Given the description of an element on the screen output the (x, y) to click on. 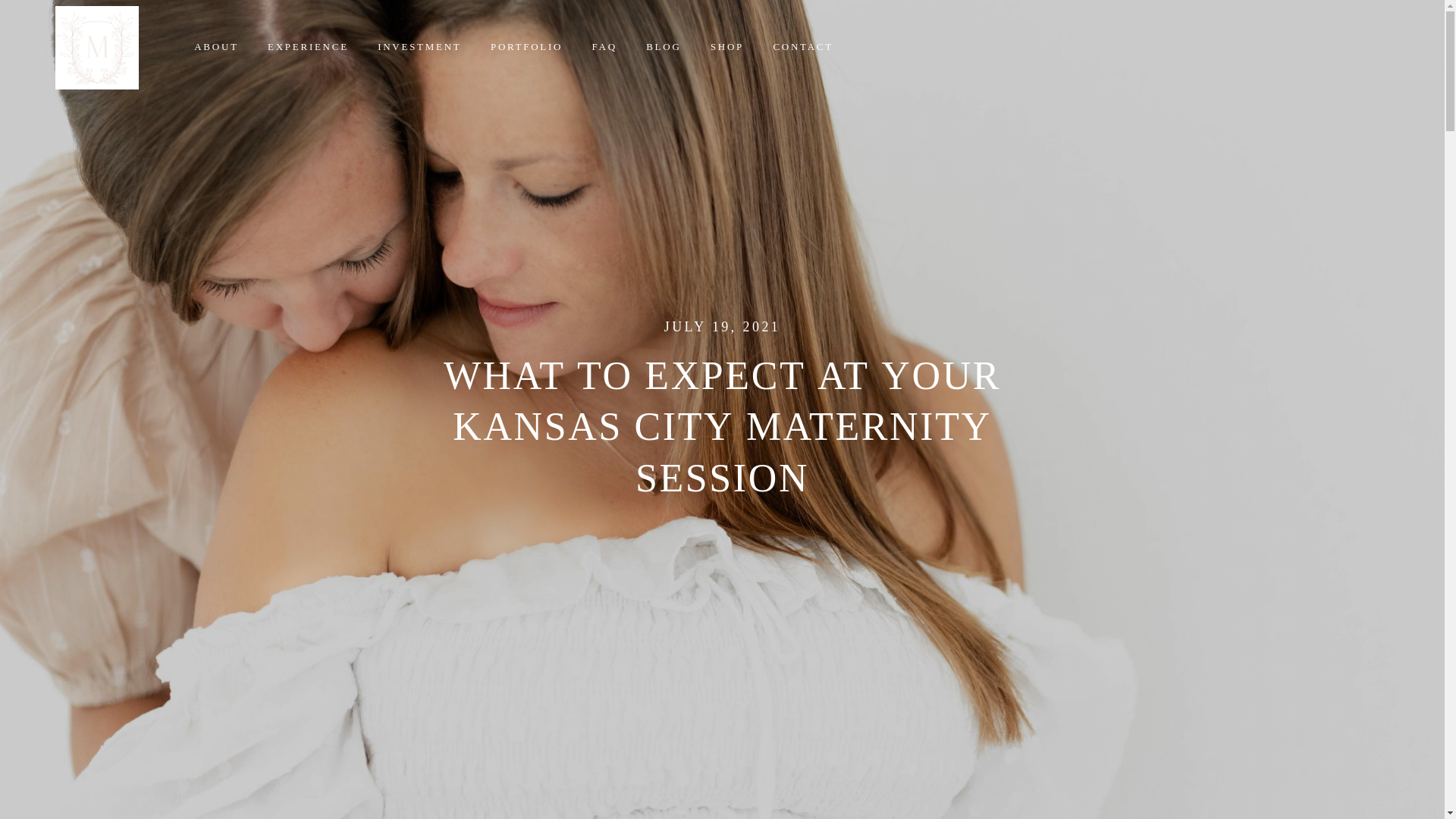
BLOG (663, 46)
SHOP (726, 46)
CONTACT (802, 46)
PORTFOLIO (527, 46)
INVESTMENT (419, 46)
FAQ (603, 46)
ABOUT (216, 46)
EXPERIENCE (307, 46)
